Given the description of an element on the screen output the (x, y) to click on. 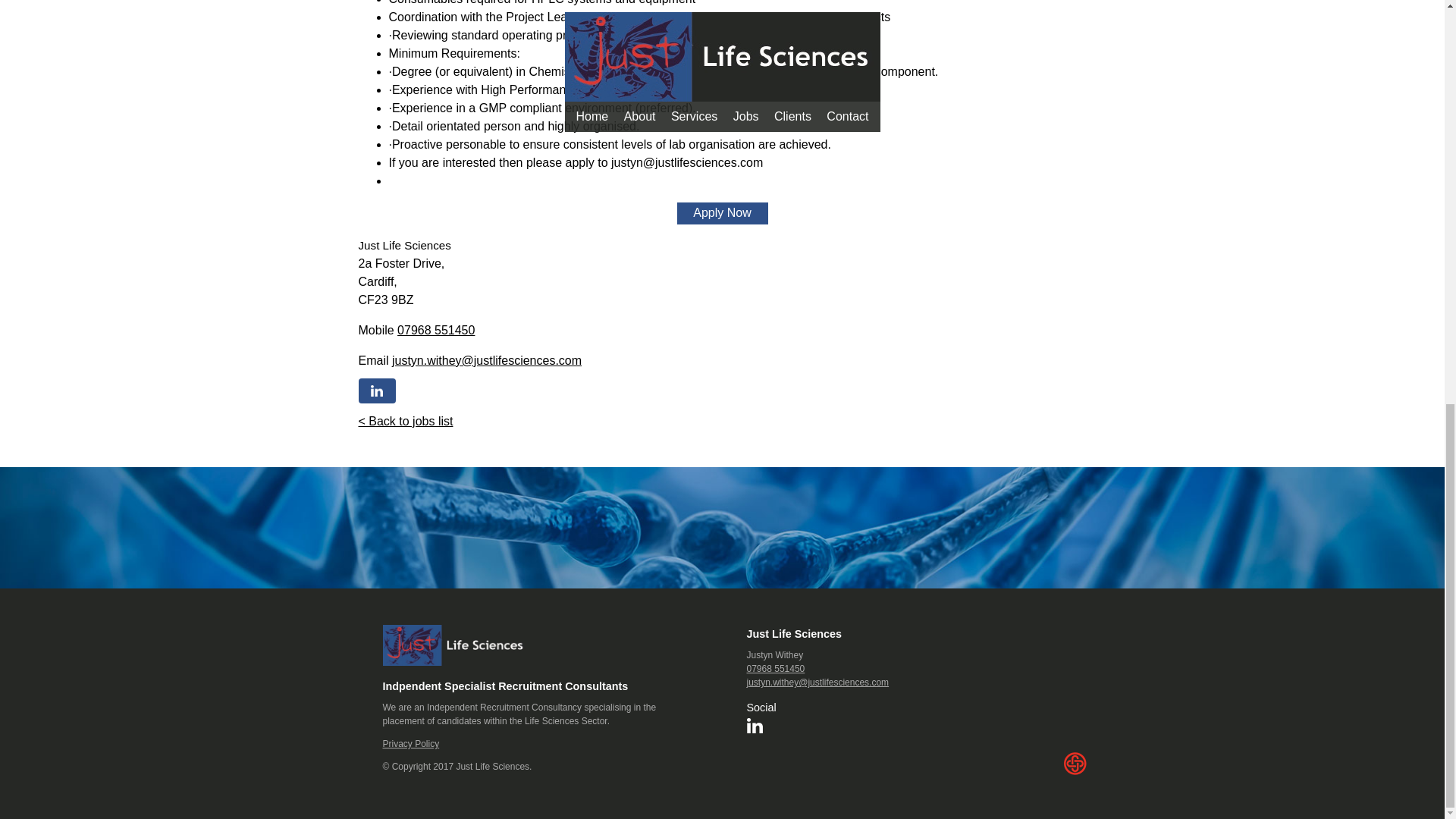
Apply Now (722, 213)
07968 551450 (435, 329)
Privacy Policy (410, 743)
07968 551450 (775, 668)
51.499160000000003;-3.1527720000000001 (722, 245)
